Given the description of an element on the screen output the (x, y) to click on. 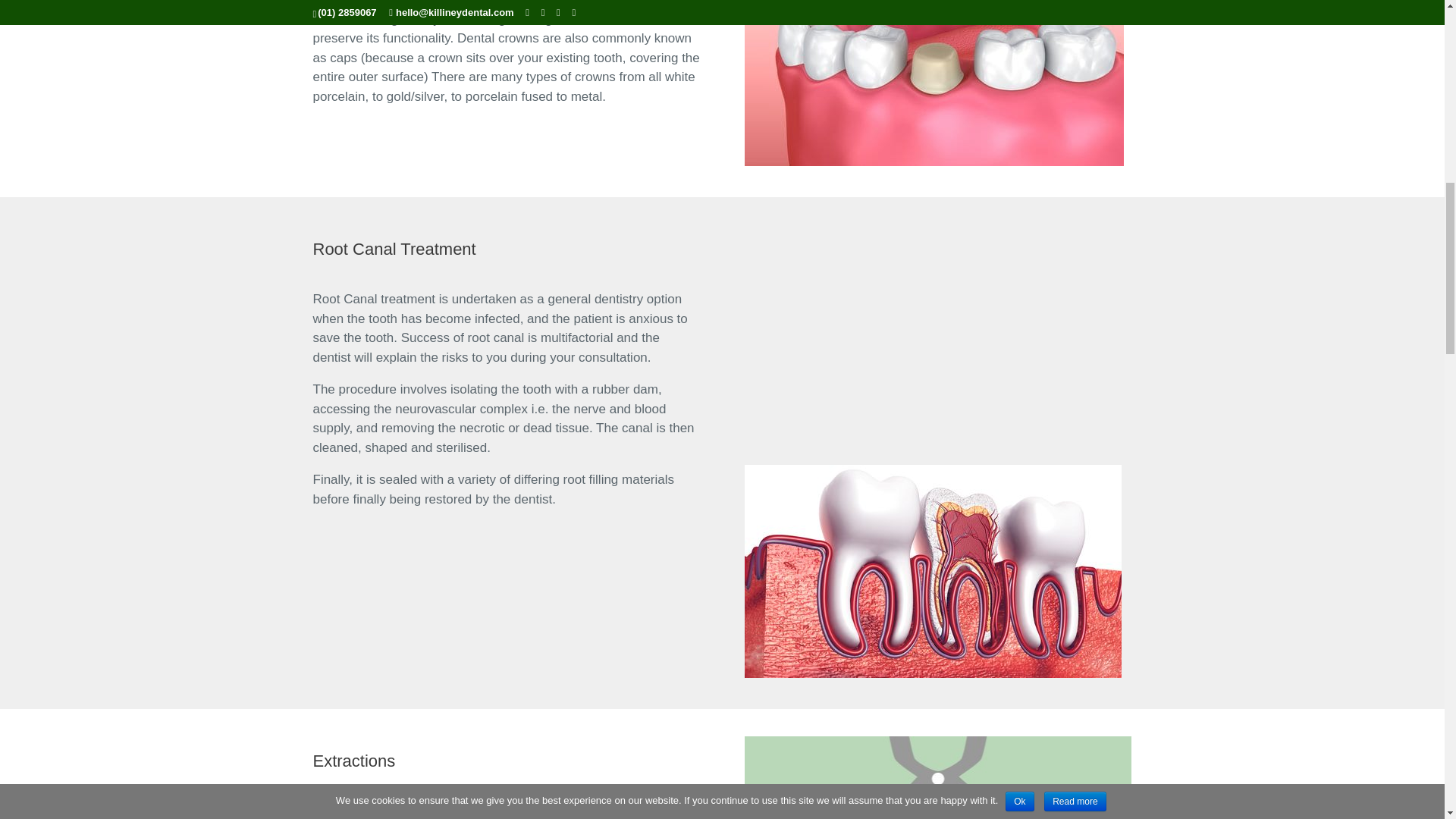
General dentistry Dublin (934, 83)
General dentistry Dublin (932, 571)
Root Canal (937, 333)
emergency dentist dublin (937, 777)
